Given the description of an element on the screen output the (x, y) to click on. 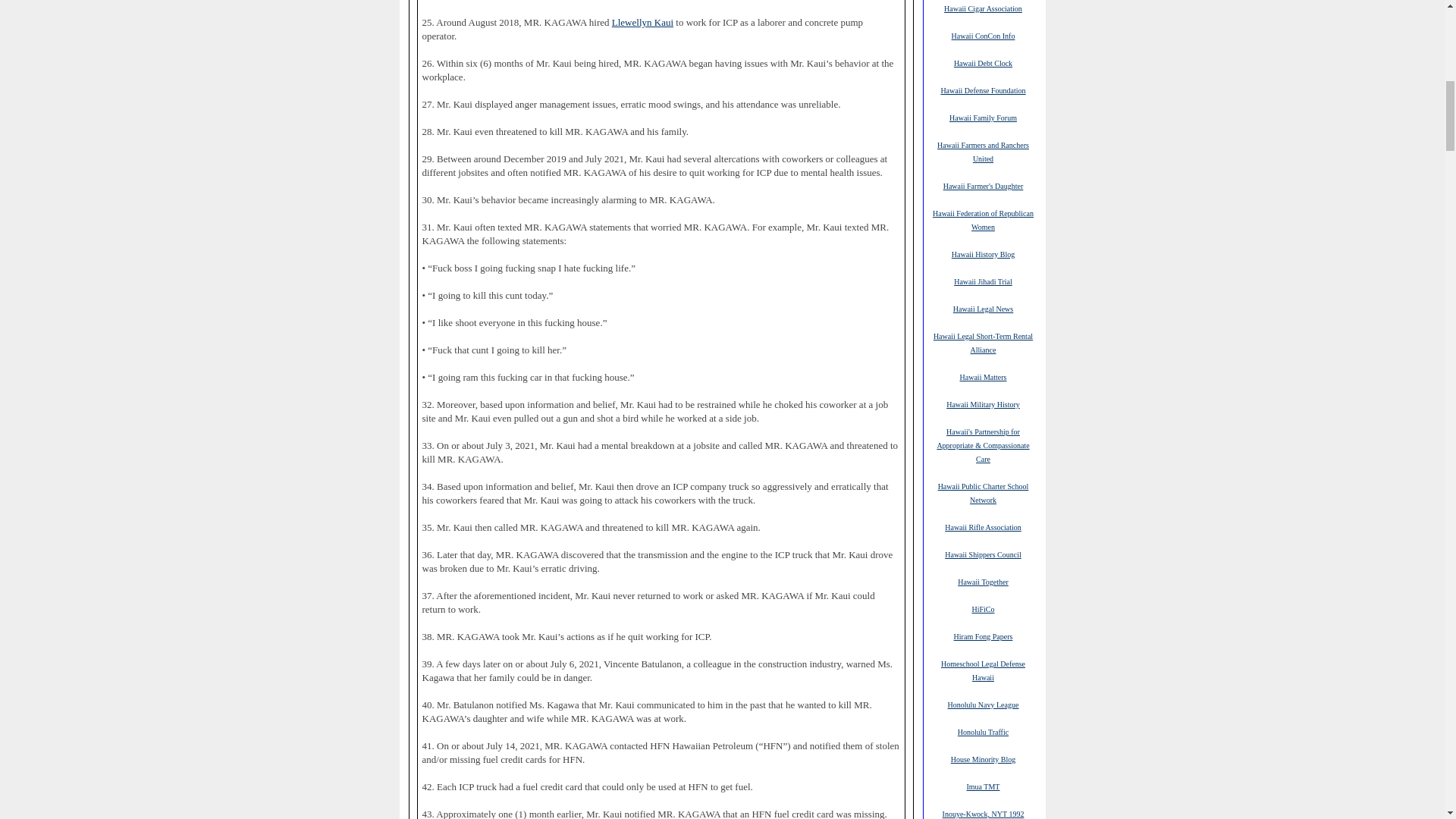
Llewellyn Kaui (641, 21)
Hawaii Defense Foundation (982, 90)
Hawaii Cigar Association (982, 8)
Hawaii Debt Clock (982, 62)
Hawaii ConCon Info (983, 35)
